Given the description of an element on the screen output the (x, y) to click on. 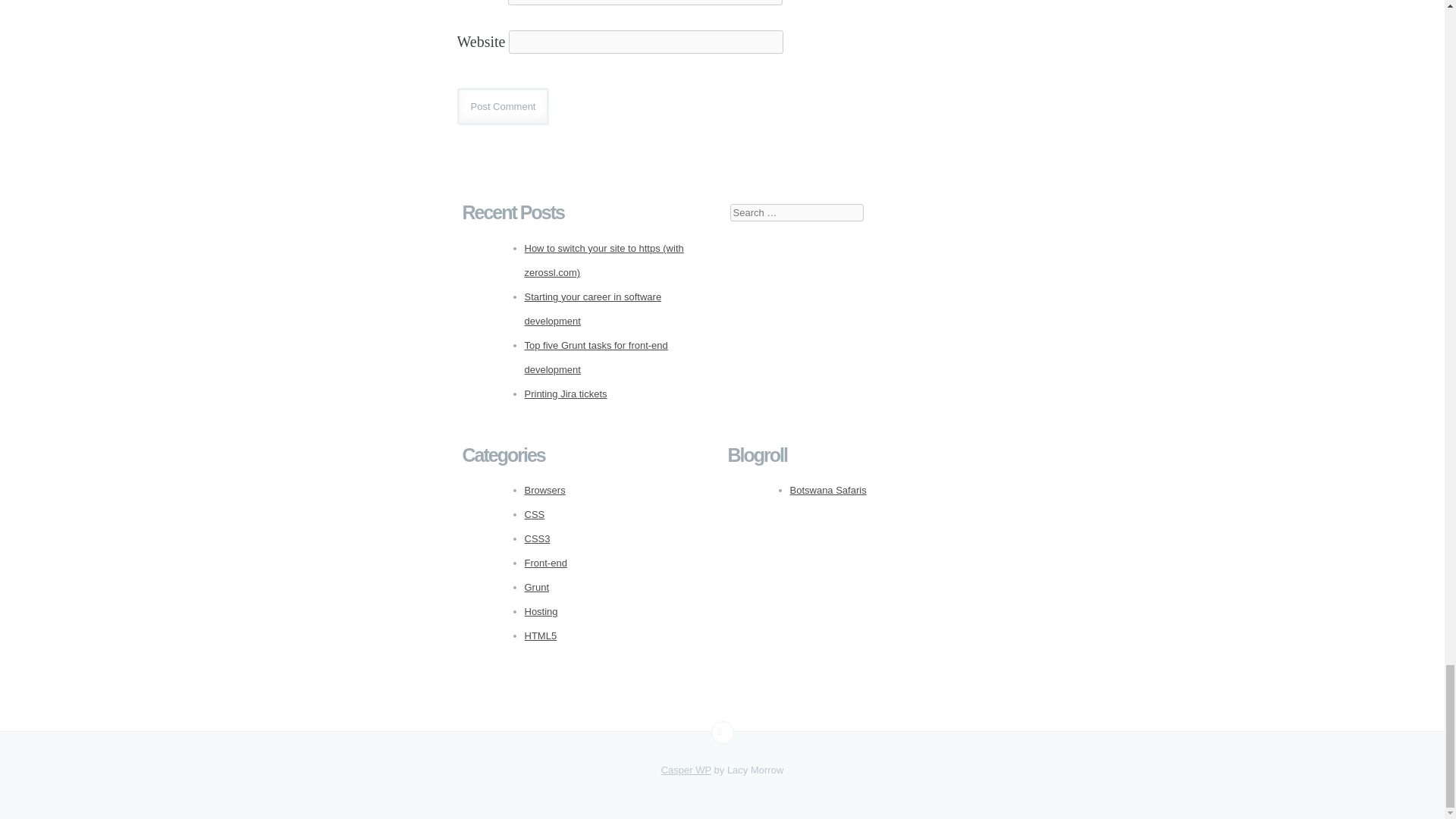
Grunt (537, 586)
HTML5 (540, 635)
Browsers (545, 490)
Post Comment (502, 106)
CSS3 (537, 538)
Top five Grunt tasks for front-end development (596, 357)
Printing Jira tickets (565, 393)
Front-end (545, 562)
Starting your career in software development (593, 308)
